Given the description of an element on the screen output the (x, y) to click on. 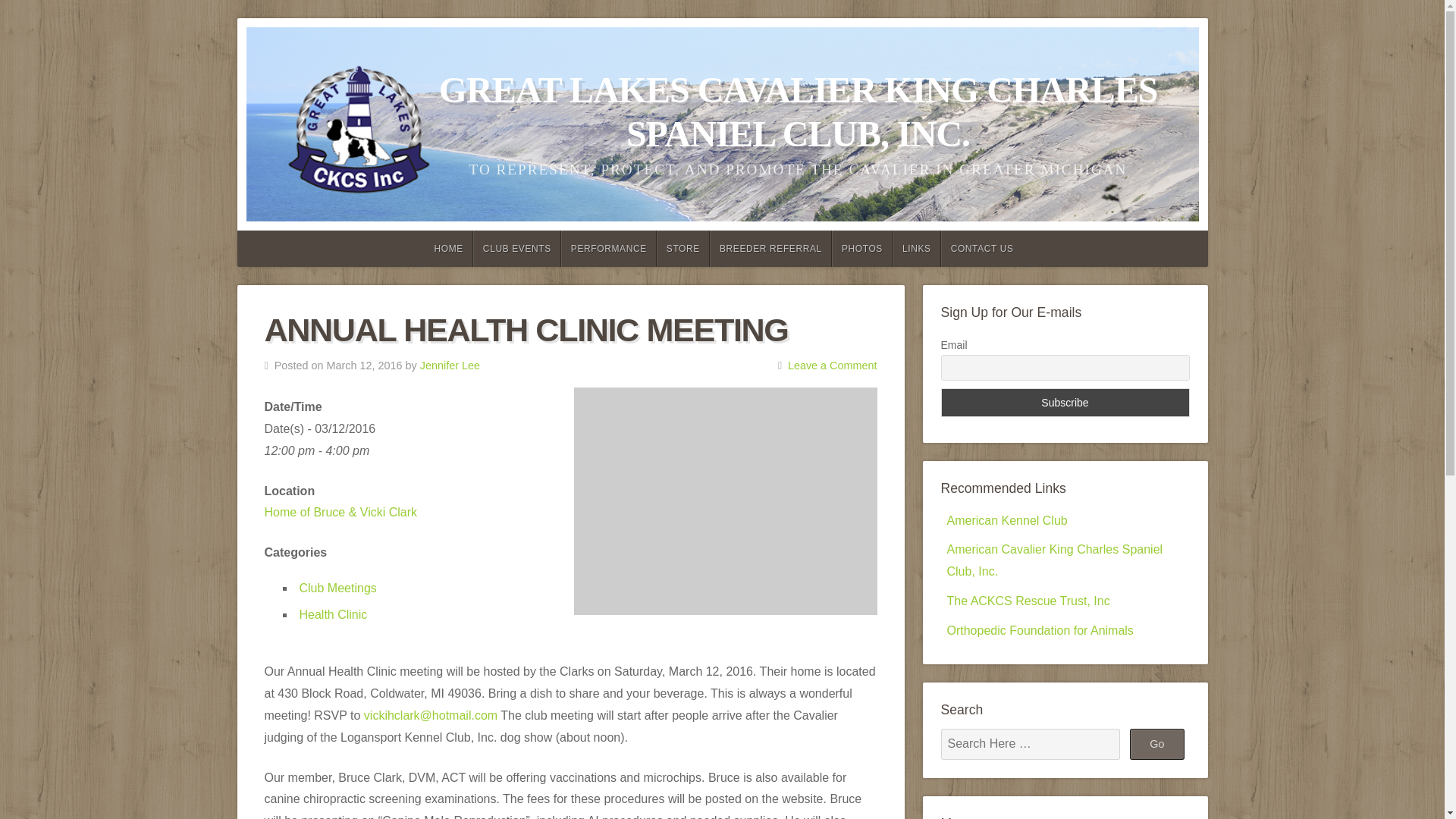
PHOTOS (861, 248)
CLUB EVENTS (516, 248)
Go (1157, 743)
Leave a Comment (832, 365)
Jennifer Lee (450, 365)
BREEDER REFERRAL (770, 248)
Subscribe (1064, 402)
PERFORMANCE (608, 248)
American Cavalier King Charles Spaniel Club, Inc. (1053, 560)
Posts by Jennifer Lee (450, 365)
LINKS (916, 248)
Orthopedic Foundation for Animals (1039, 630)
HOME (446, 248)
The ACKCS Rescue Trust, Inc (1027, 600)
Leave a Comment (832, 365)
